Given the description of an element on the screen output the (x, y) to click on. 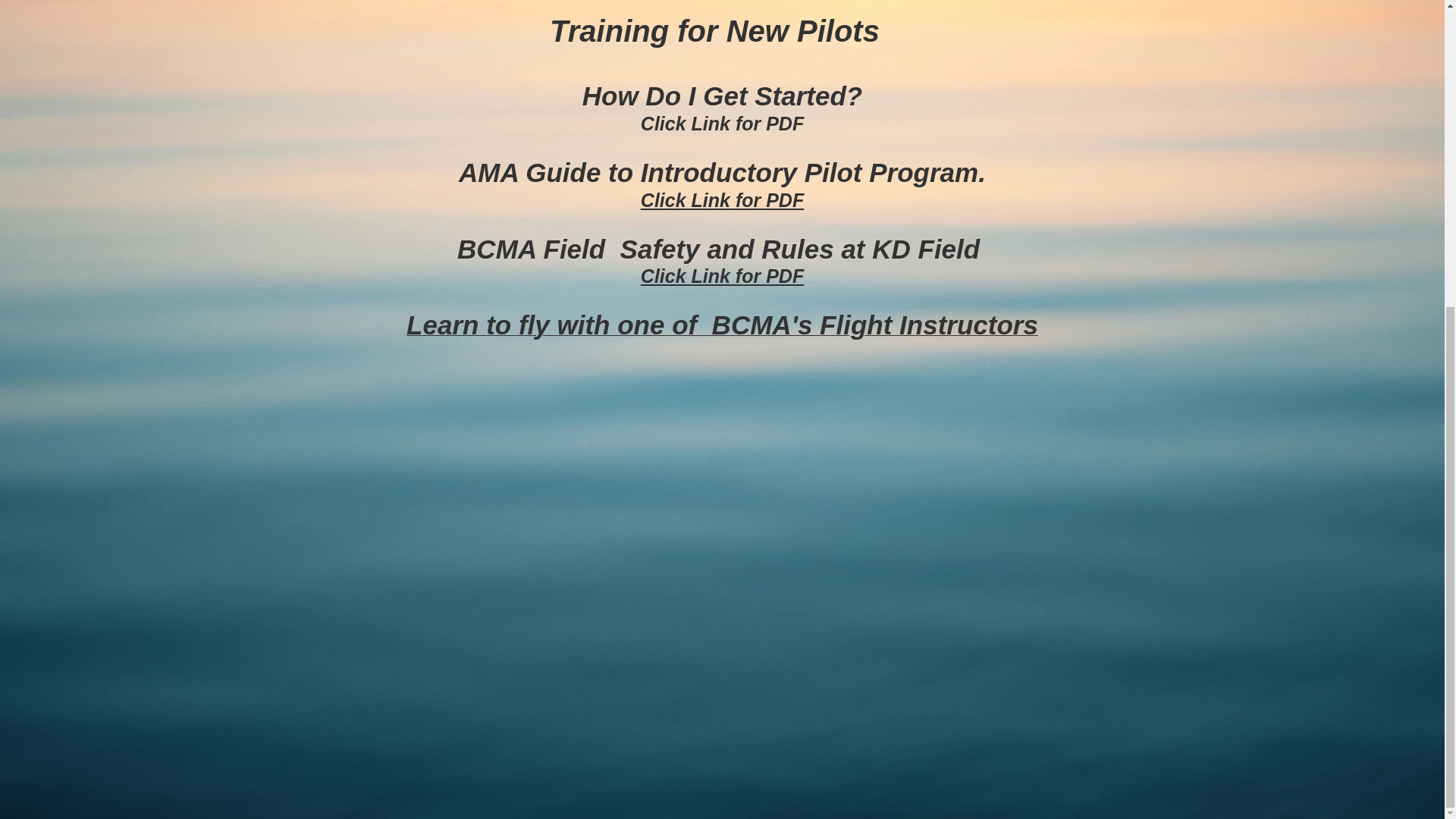
Click Link for PDF (721, 275)
Click Link for PDF (721, 199)
Learn to fly with one of  BCMA's Flight Instructors (722, 329)
